Given the description of an element on the screen output the (x, y) to click on. 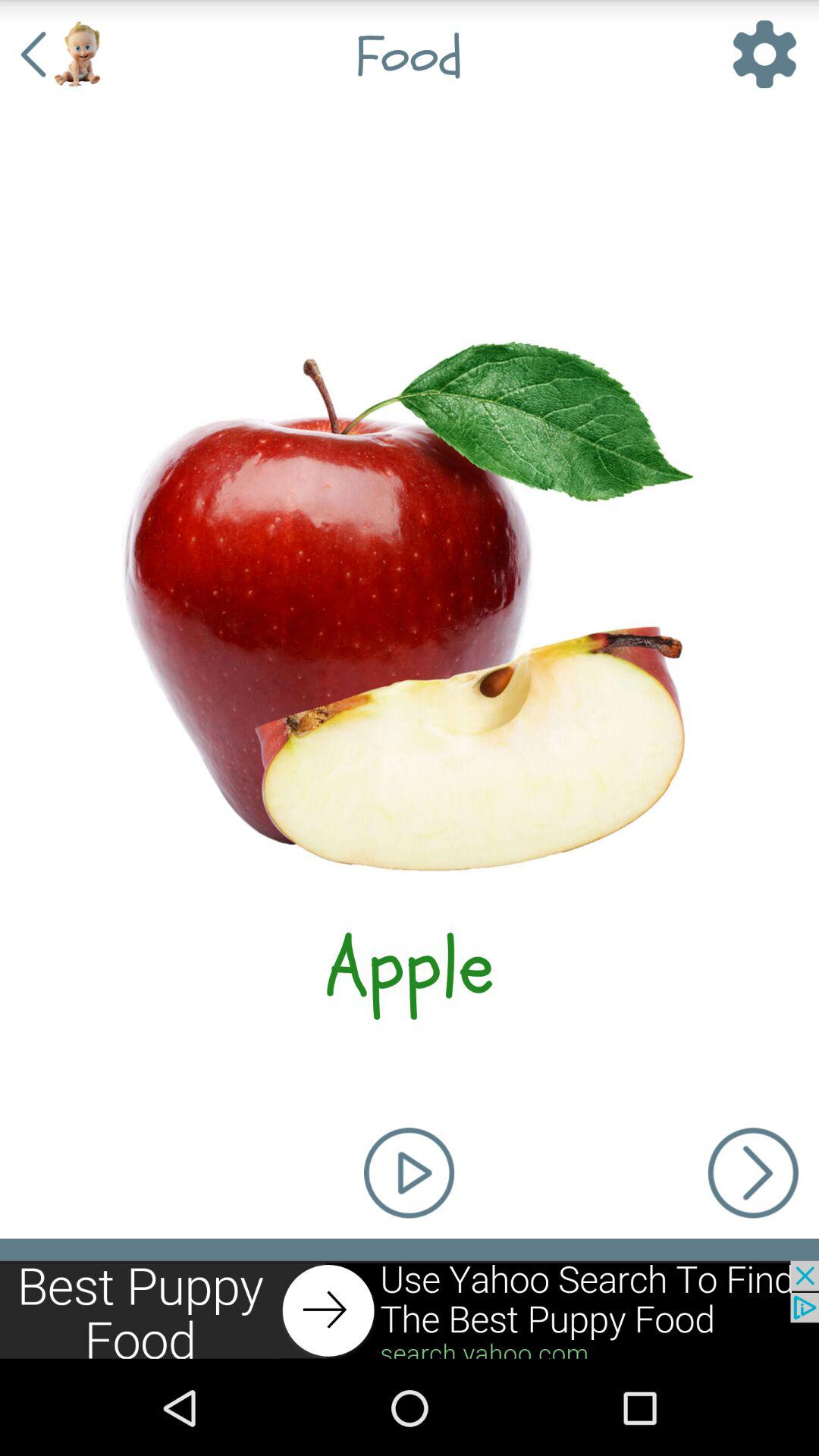
know about the advertisement (409, 1310)
